Given the description of an element on the screen output the (x, y) to click on. 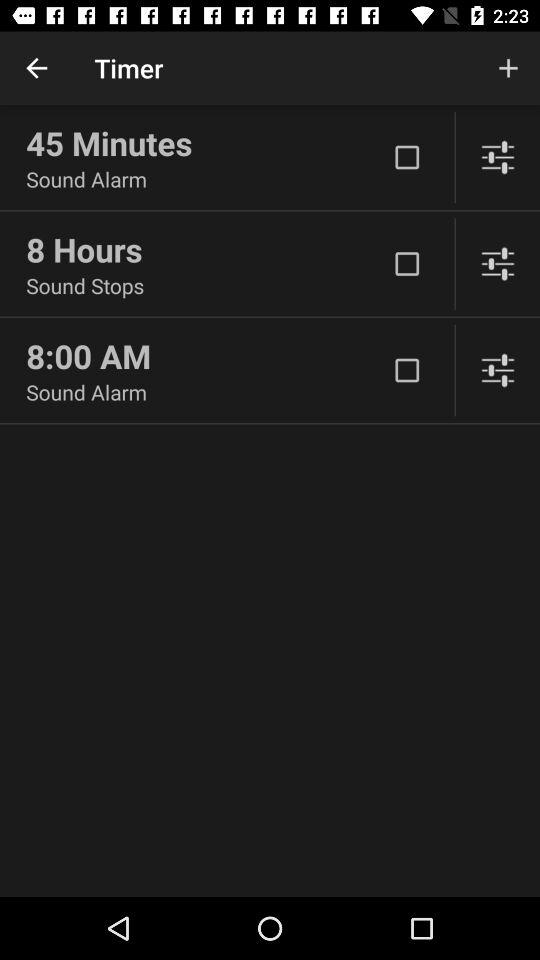
adjust settings (498, 370)
